Given the description of an element on the screen output the (x, y) to click on. 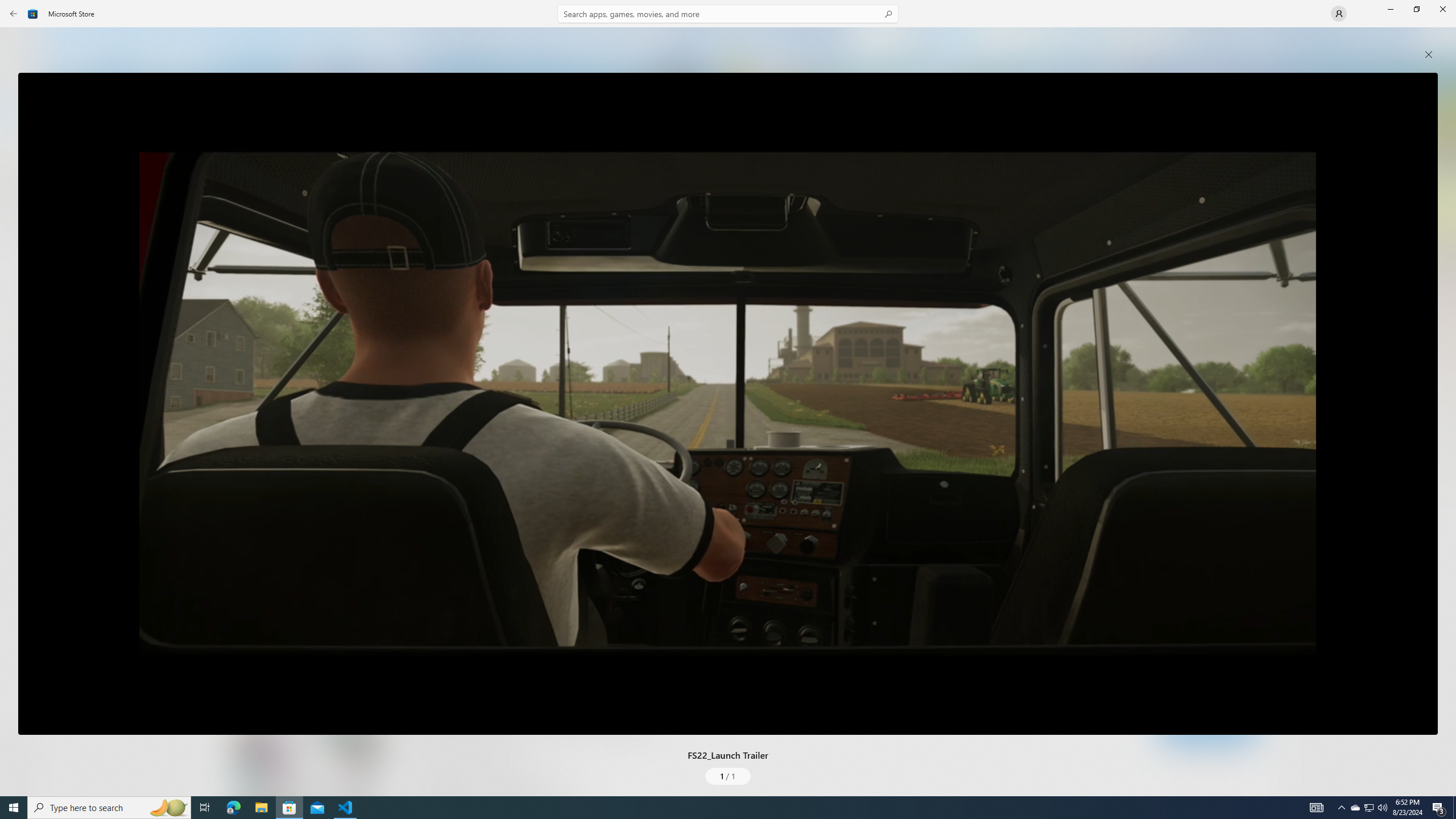
Home (20, 45)
Farming Simulator 22 PC, Edition selector (449, 610)
Age rating: EVERYONE. Click for more information. (537, 538)
What's New (20, 738)
AutomationID: PosterImage (727, 403)
4.3 stars. Click to skip to ratings and reviews (392, 541)
Arcade (20, 150)
FS22_Launch Trailer (727, 403)
Play Trailer (287, 575)
Gaming (20, 115)
Close Microsoft Store (1442, 9)
Search (727, 13)
User profile (1338, 13)
close popup window (1428, 54)
Minimize Microsoft Store (1390, 9)
